Given the description of an element on the screen output the (x, y) to click on. 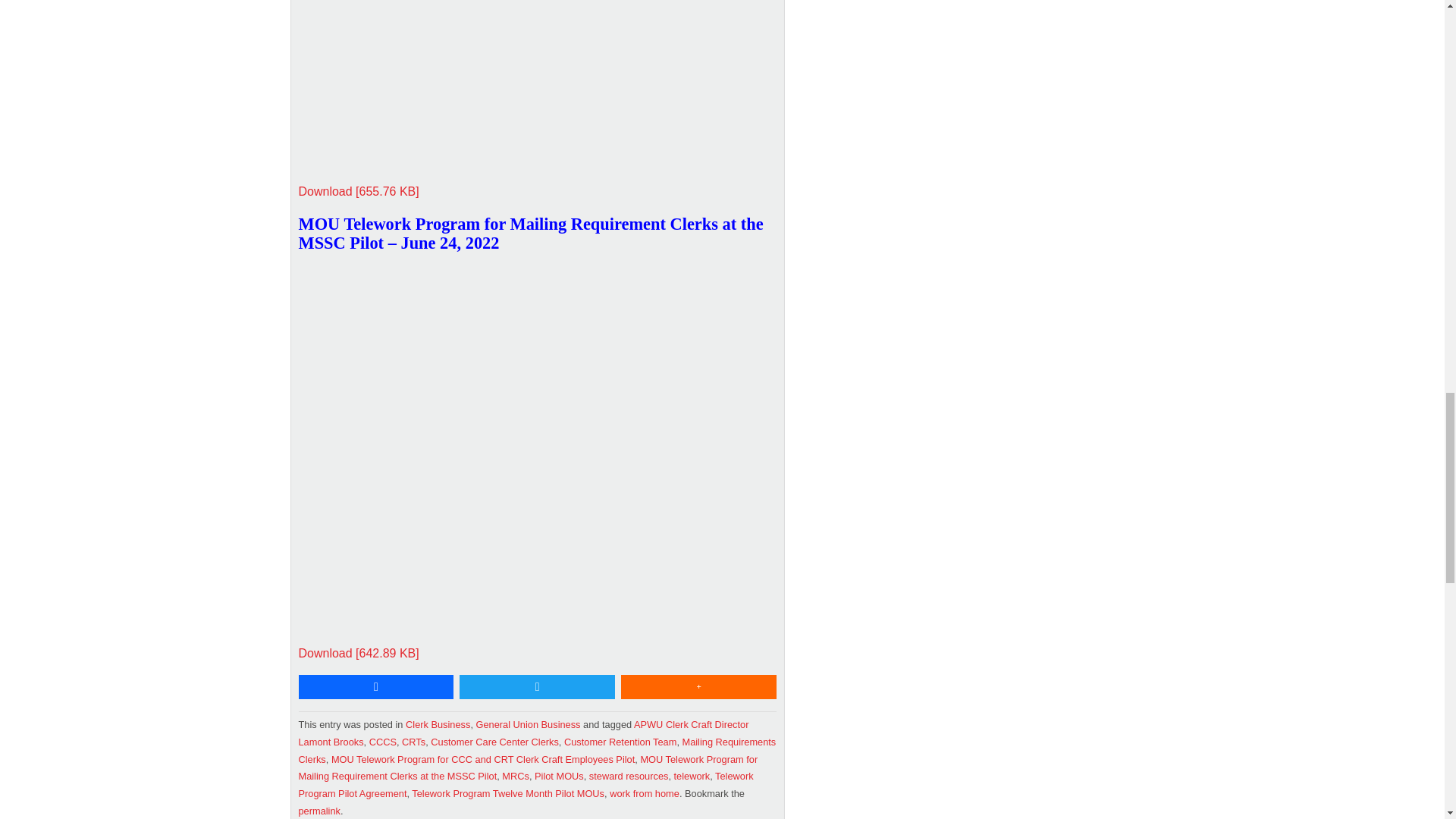
MRCs (515, 776)
Telework Program Twelve Month Pilot MOUs (508, 793)
Pilot MOUs (558, 776)
permalink (319, 810)
Mailing Requirements Clerks (537, 750)
Clerk Business (438, 724)
Customer Retention Team (620, 741)
work from home (644, 793)
More share links (698, 686)
